Given the description of an element on the screen output the (x, y) to click on. 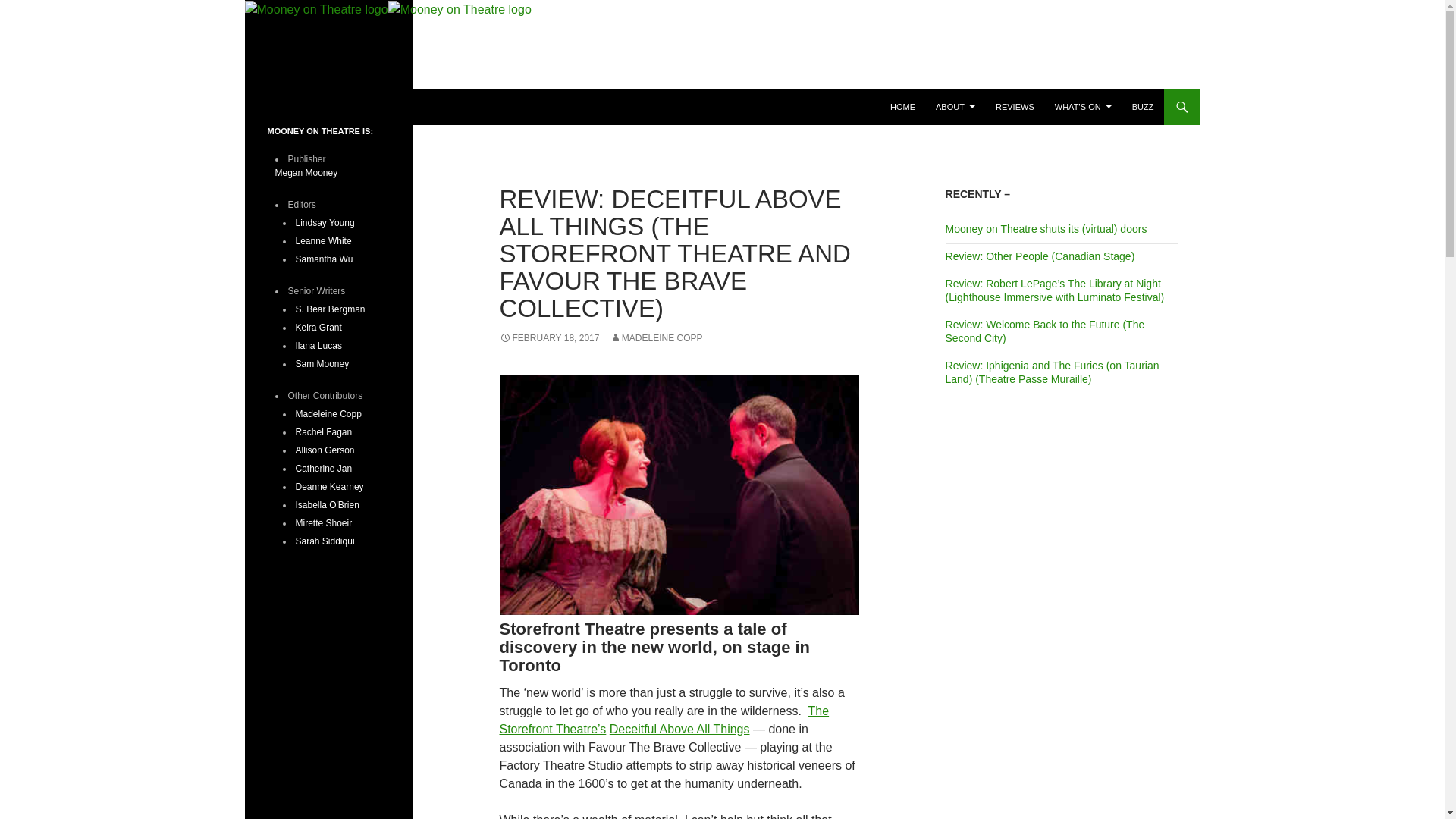
Leanne White (323, 240)
Megan Mooney (306, 172)
FEBRUARY 18, 2017 (548, 337)
Samantha Wu (324, 258)
Keira Grant (318, 327)
ABOUT (955, 106)
BUZZ (1142, 106)
Deceitful Above All Things (679, 728)
HOME (902, 106)
